Given the description of an element on the screen output the (x, y) to click on. 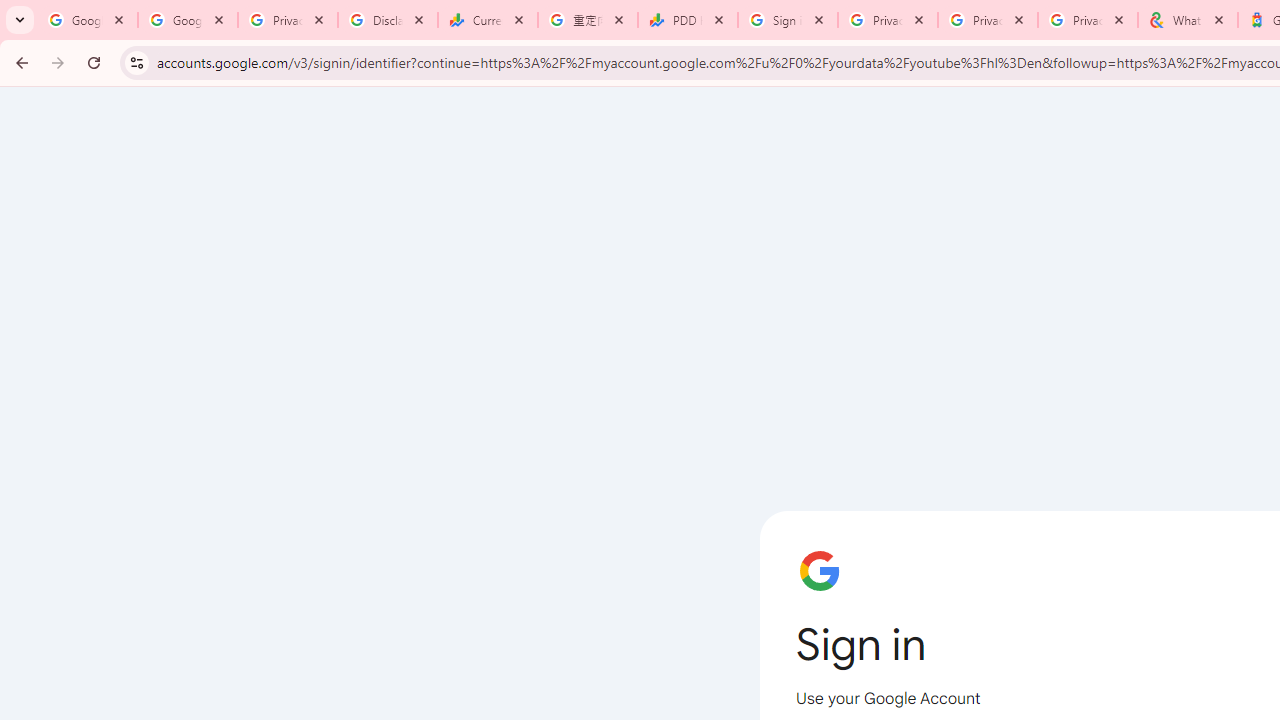
Currencies - Google Finance (487, 20)
Sign in - Google Accounts (788, 20)
Privacy Checkup (1087, 20)
Privacy Checkup (988, 20)
PDD Holdings Inc - ADR (PDD) Price & News - Google Finance (687, 20)
